Given the description of an element on the screen output the (x, y) to click on. 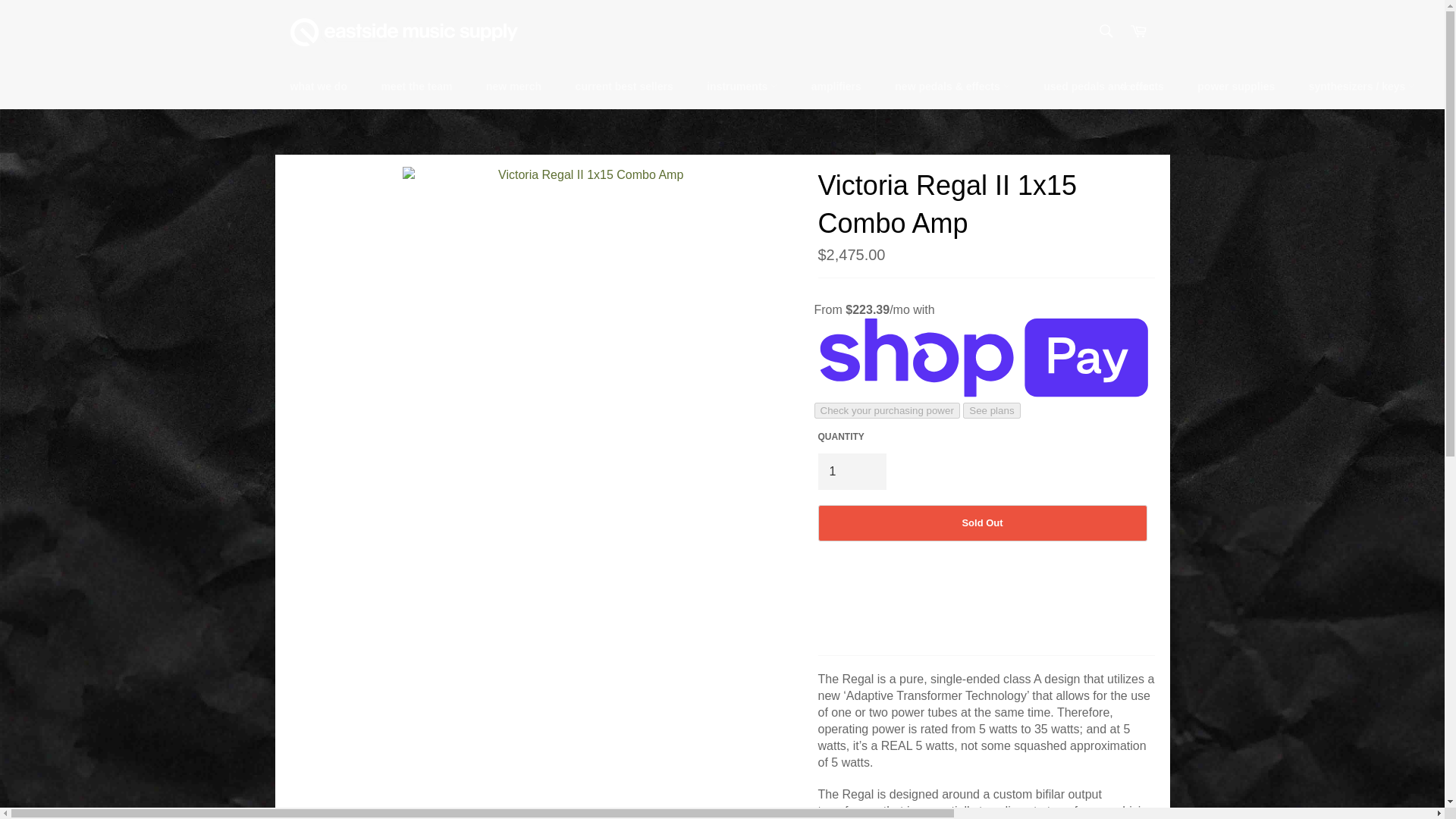
1 (850, 471)
